Given the description of an element on the screen output the (x, y) to click on. 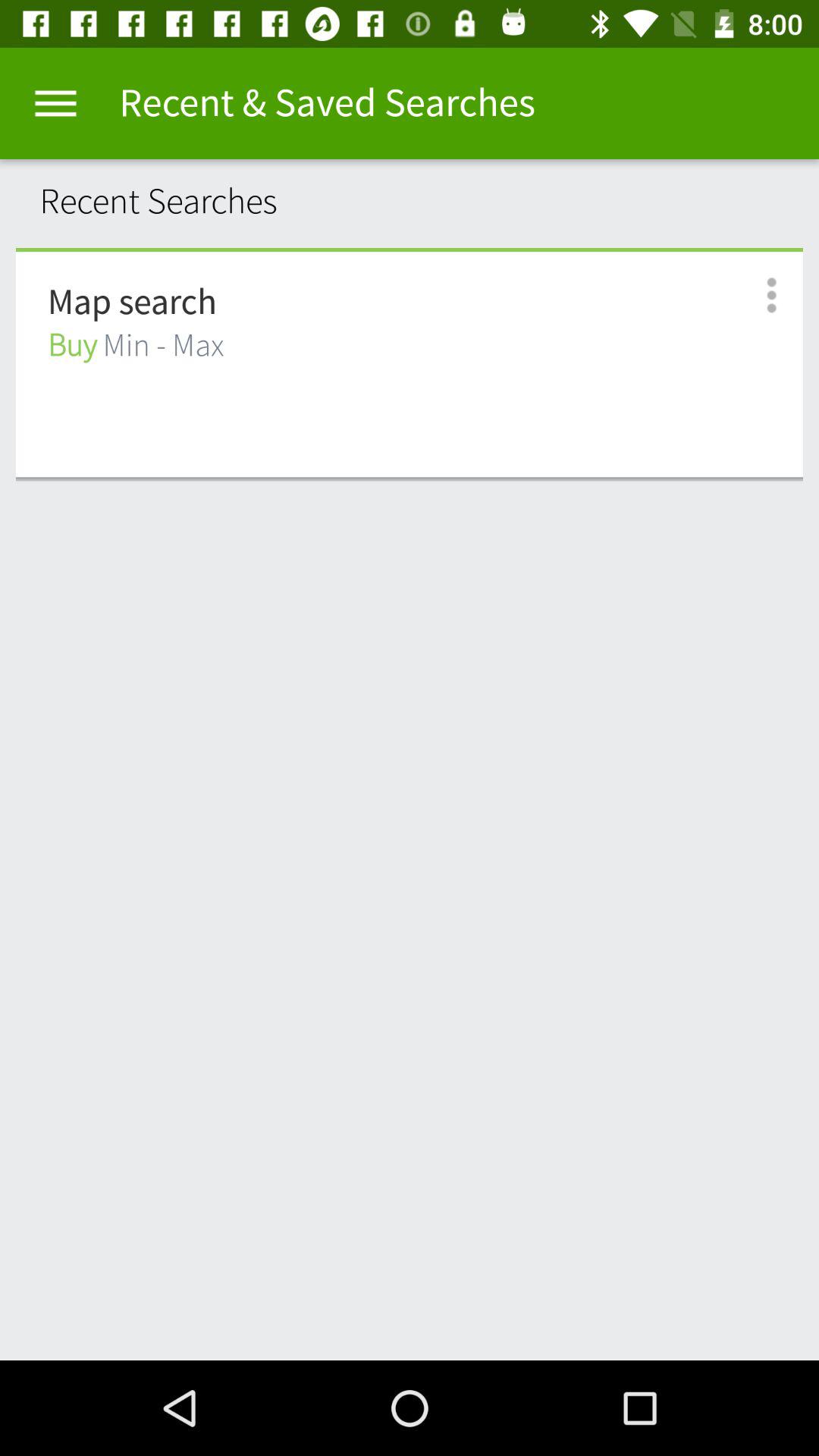
open item next to recent & saved searches icon (55, 103)
